Given the description of an element on the screen output the (x, y) to click on. 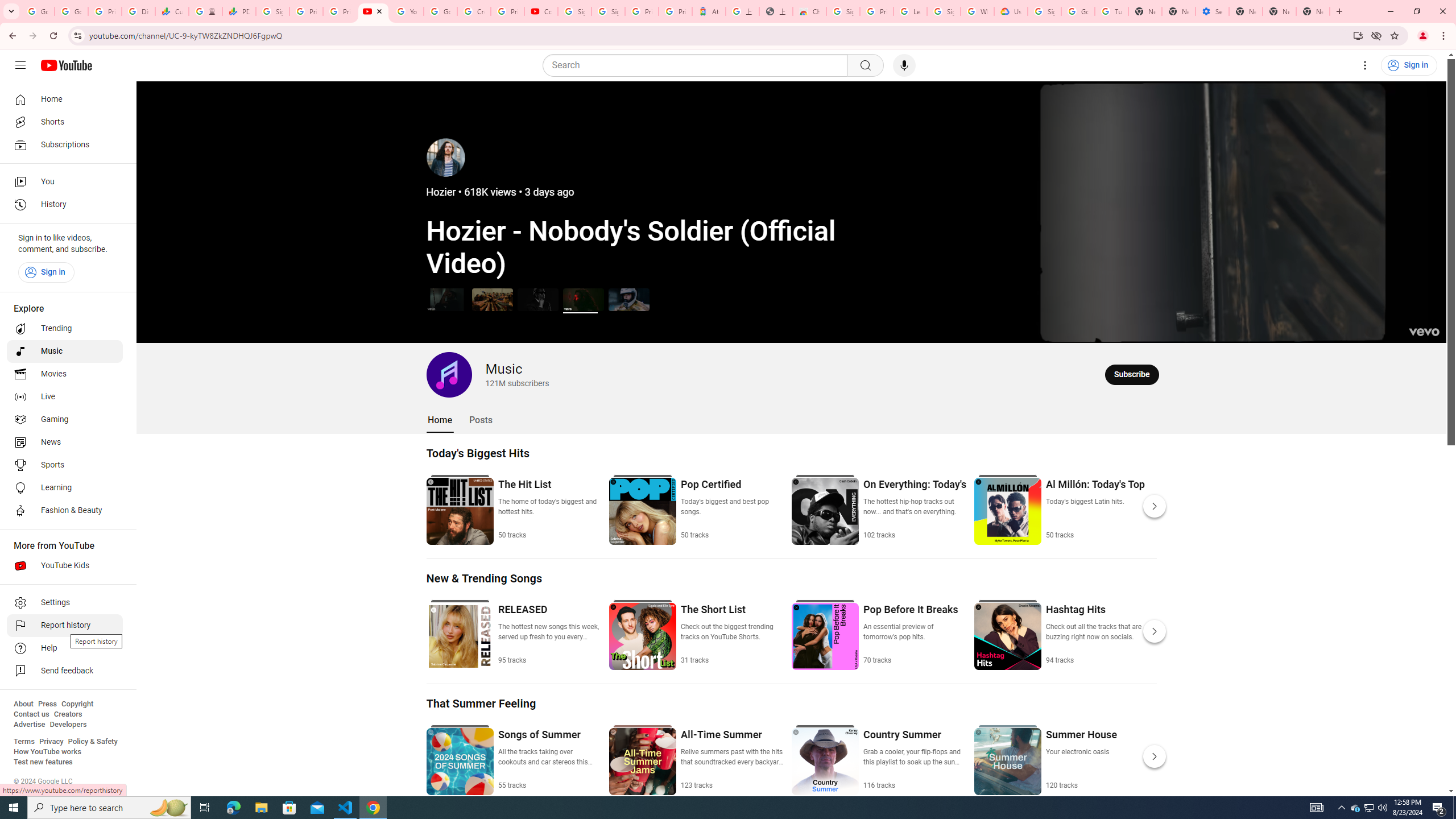
Google Account Help (441, 11)
Creators (67, 714)
Music 121 million subscribers (487, 374)
Fashion & Beauty (64, 510)
That Summer Feeling (480, 703)
Movies (64, 373)
